Given the description of an element on the screen output the (x, y) to click on. 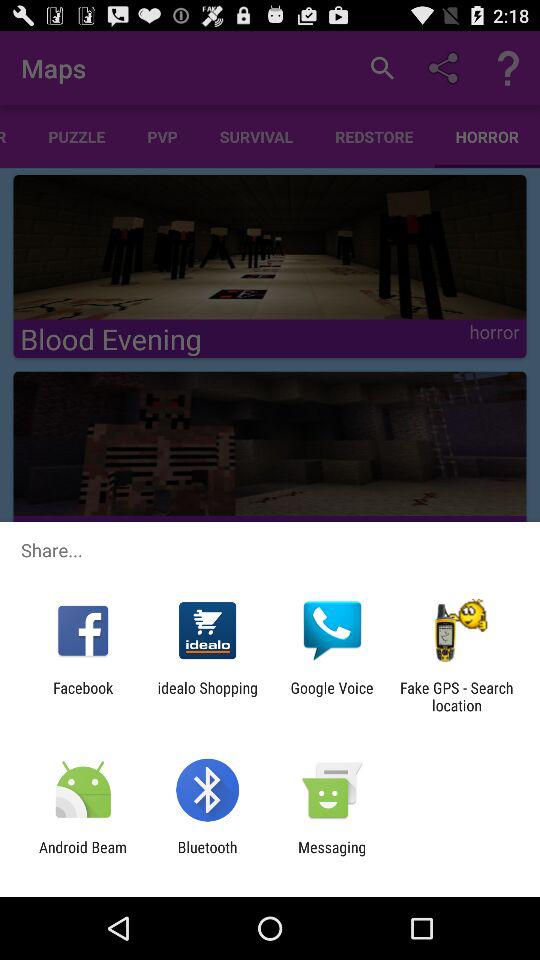
turn off icon next to the android beam (207, 856)
